Given the description of an element on the screen output the (x, y) to click on. 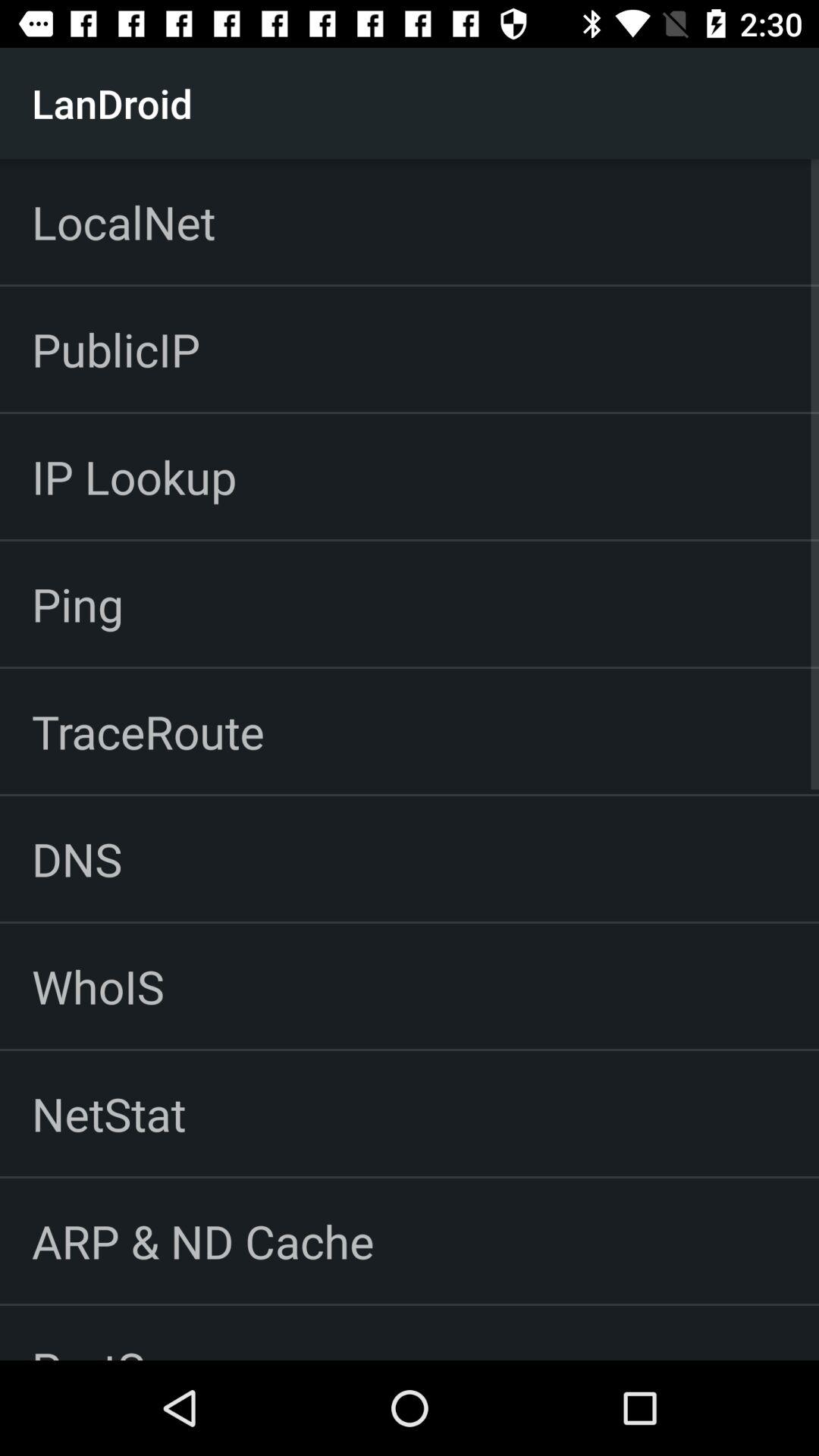
click the app below the arp & nd cache (125, 1332)
